Given the description of an element on the screen output the (x, y) to click on. 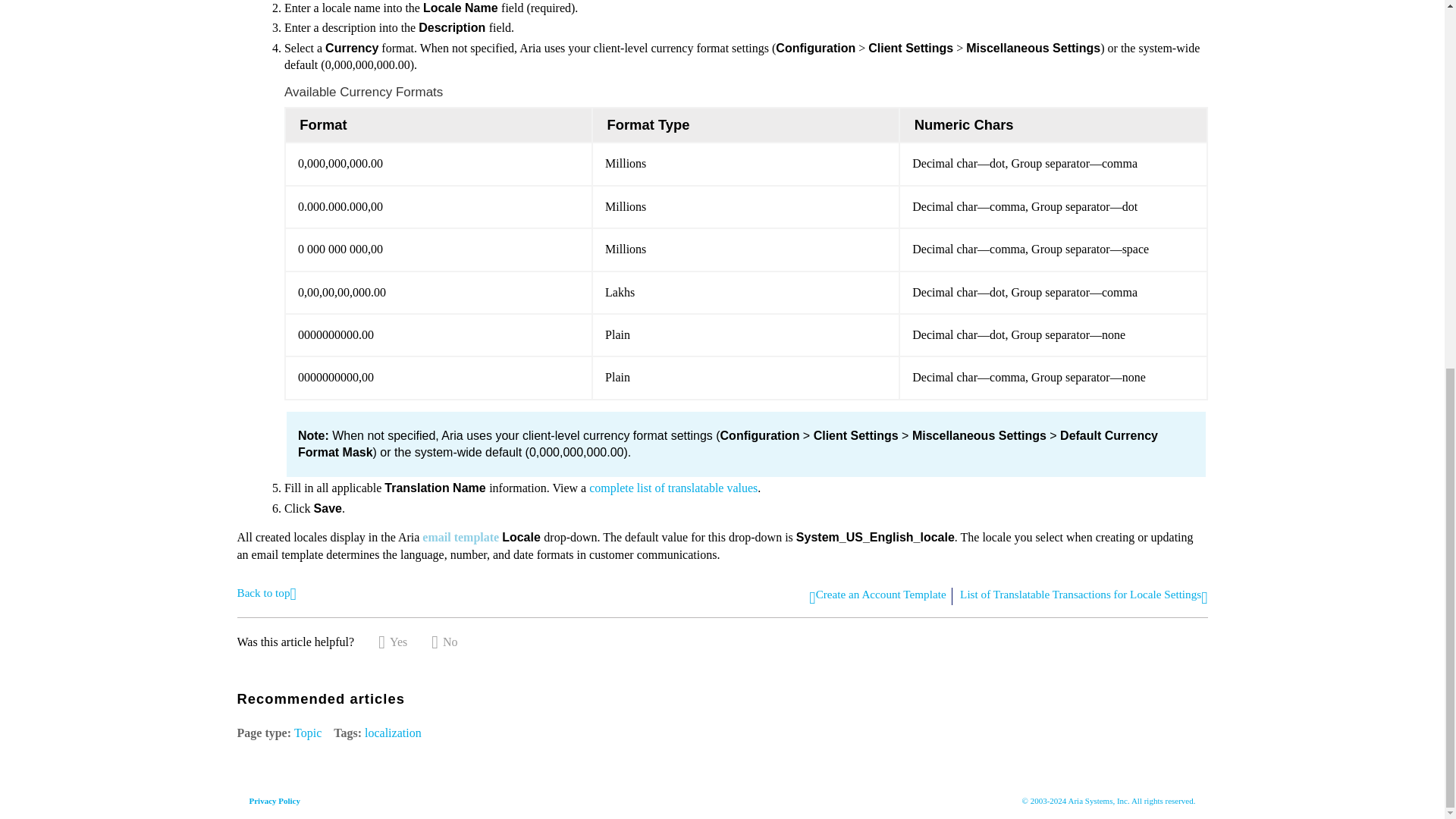
Create an Account Template (876, 596)
Create an Email Template (460, 536)
Jump back to top of this article (265, 591)
Back to top (265, 591)
Privacy Policy (273, 800)
localization (393, 732)
List of Translatable Transactions for Locale Settings (1083, 596)
No (443, 641)
List of Translatable Transactions for Locale Settings (673, 487)
